Given the description of an element on the screen output the (x, y) to click on. 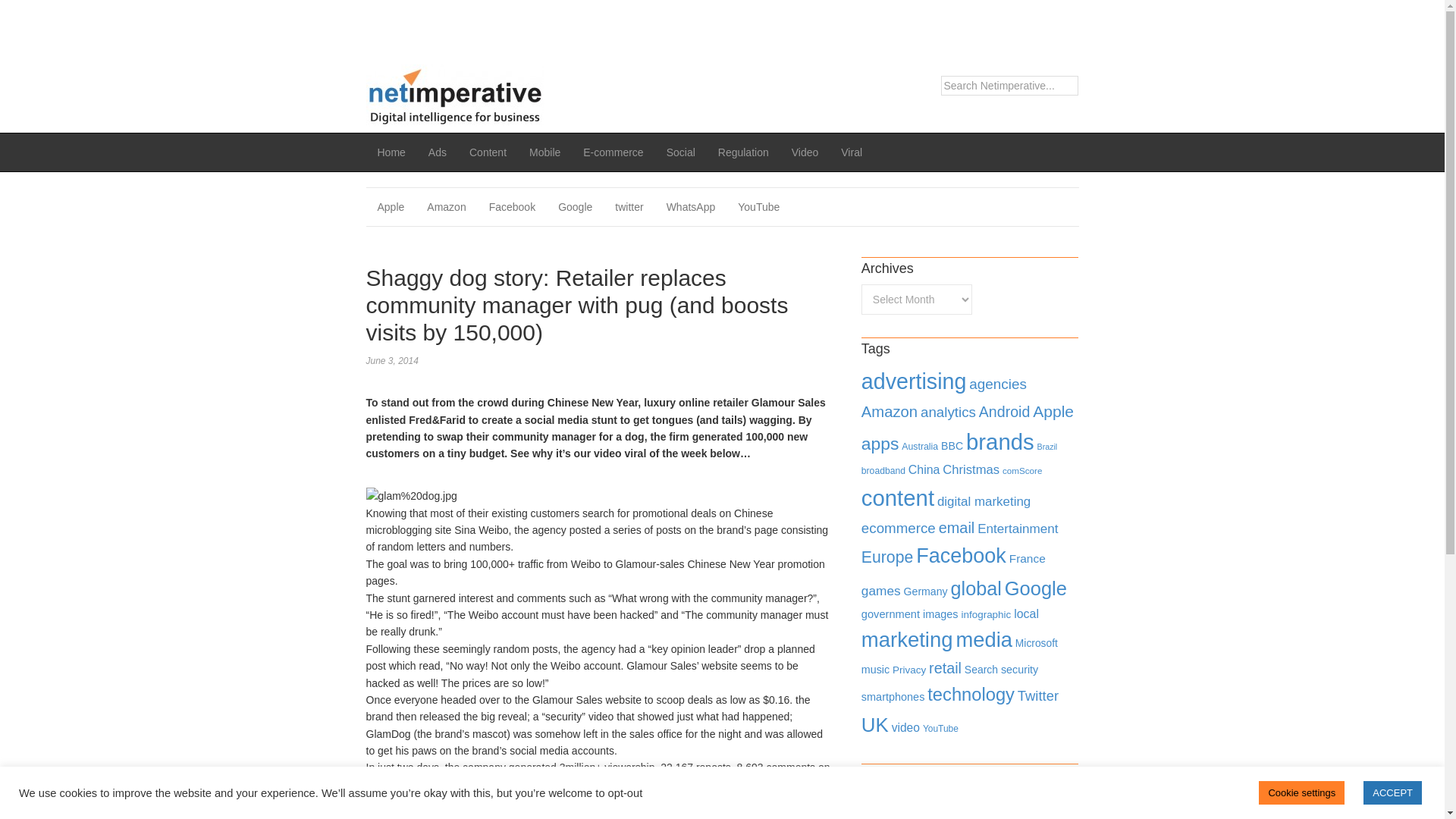
Android (1003, 411)
Apple (1053, 411)
Social (680, 152)
apps (880, 443)
WhatsApp (690, 207)
Apple (389, 207)
Content (488, 152)
E-commerce (612, 152)
E-commerce (612, 152)
